Given the description of an element on the screen output the (x, y) to click on. 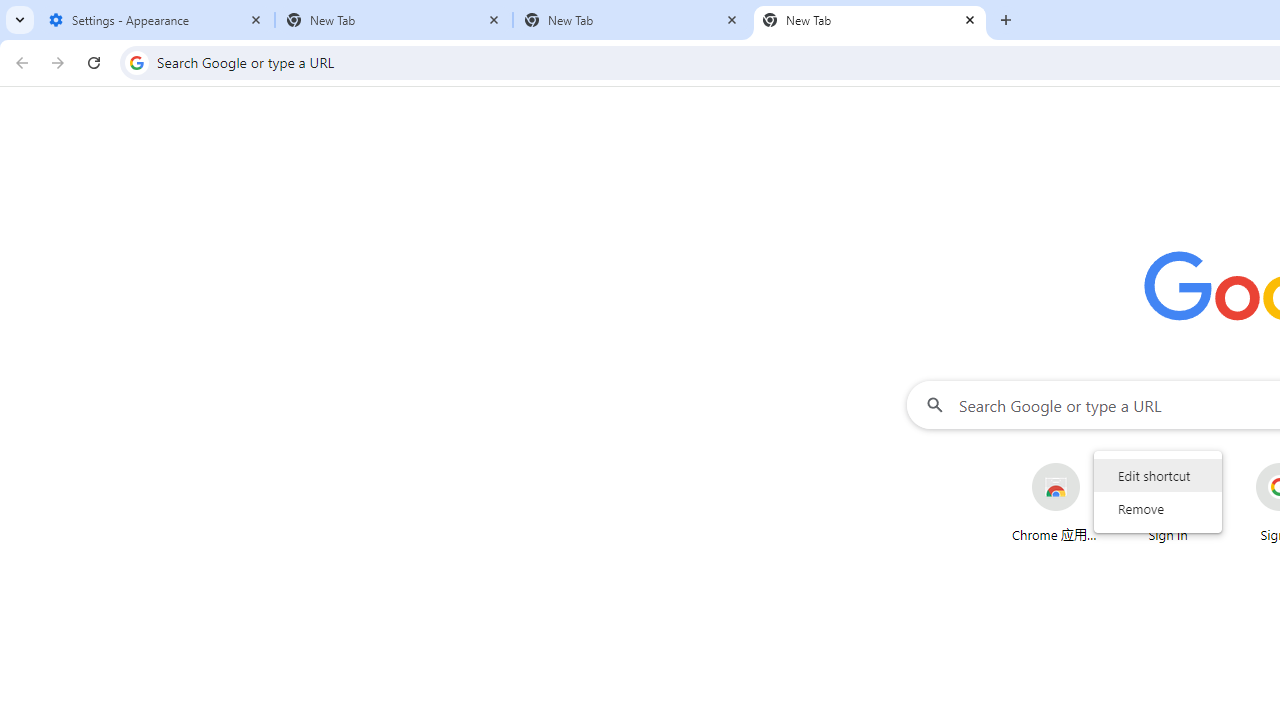
Remove (1158, 507)
New Tab (870, 20)
AutomationID: wrapper (1158, 491)
Settings - Appearance (156, 20)
Edit shortcut (1158, 475)
